Given the description of an element on the screen output the (x, y) to click on. 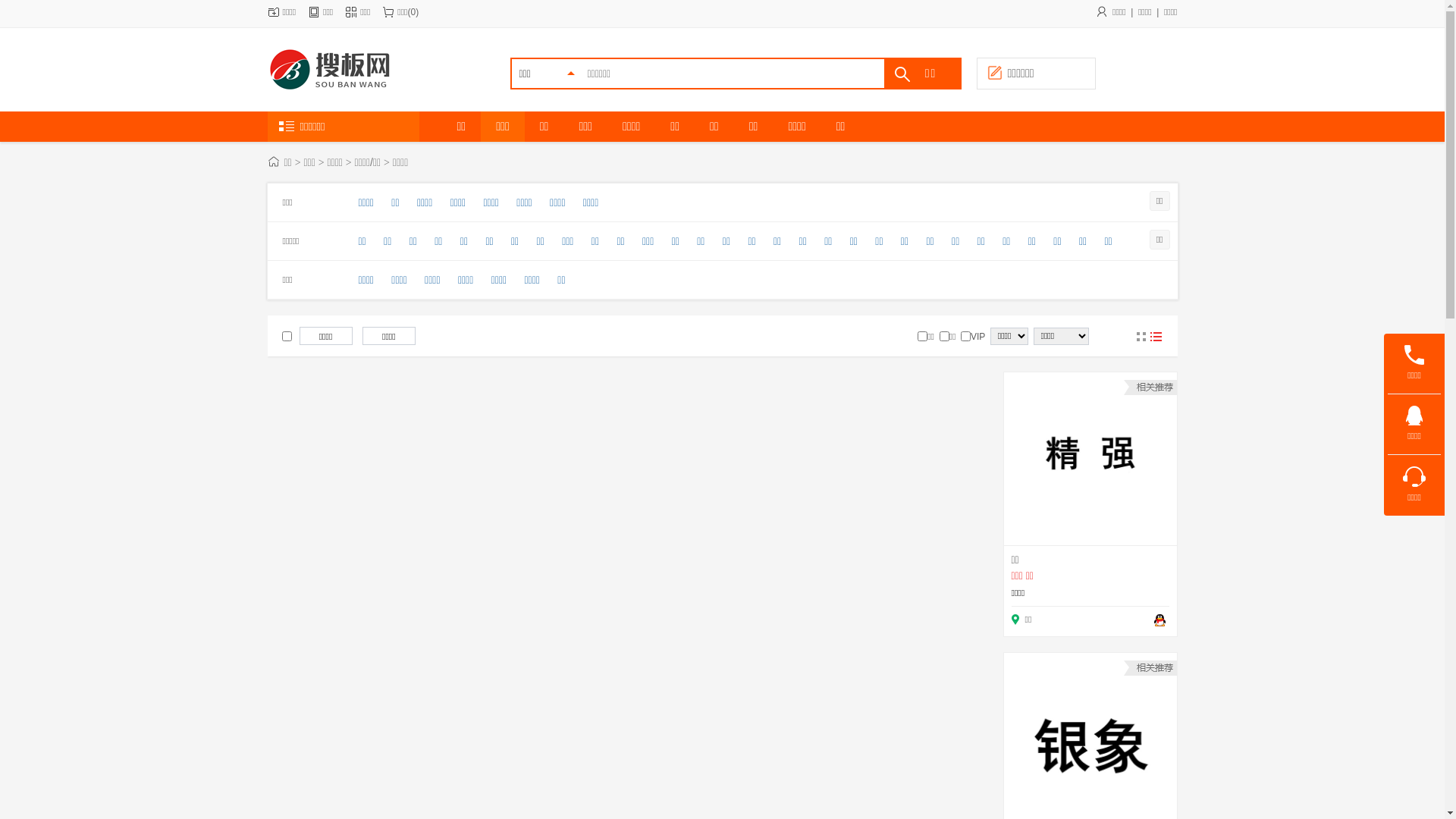
on Element type: text (944, 336)
on Element type: text (286, 336)
on Element type: text (965, 336)
on Element type: text (922, 336)
